Given the description of an element on the screen output the (x, y) to click on. 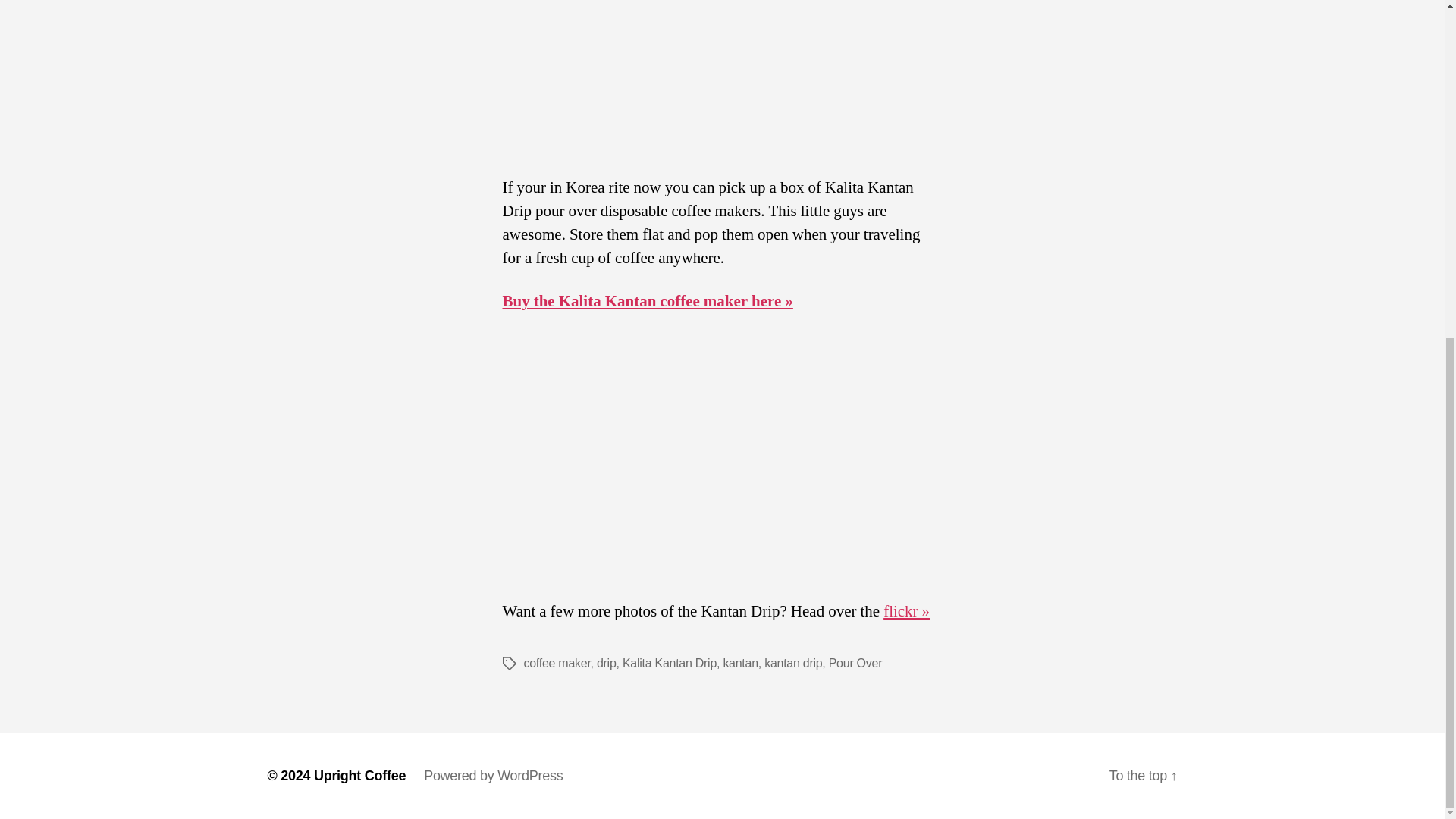
kantan drip (793, 662)
Kalita Kantan Drip coffee maker (722, 72)
coffee maker (555, 662)
drip (605, 662)
Kalita Kantan Dripper coffee maker (382, 670)
kantan (739, 662)
Pour Over (855, 662)
Powered by WordPress (492, 775)
Kalita Kantan Drip (669, 662)
Upright Coffee (360, 775)
